Given the description of an element on the screen output the (x, y) to click on. 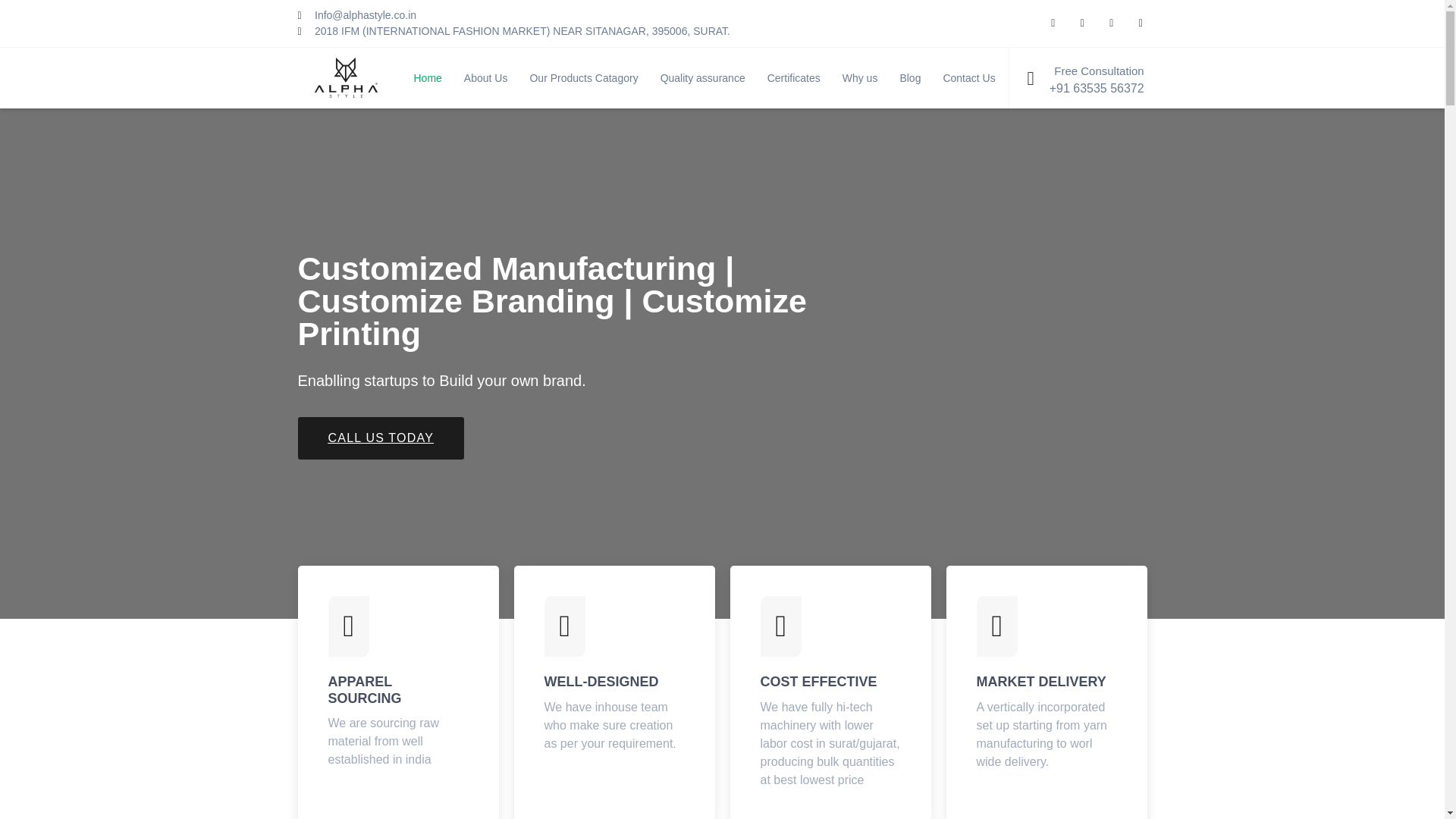
Certificates (794, 77)
CALL US TODAY (380, 437)
Quality assurance (703, 77)
Our Products Catagory (584, 77)
Free Consultation (1098, 70)
Contact Us (970, 77)
Why us (860, 77)
About Us (486, 77)
